Given the description of an element on the screen output the (x, y) to click on. 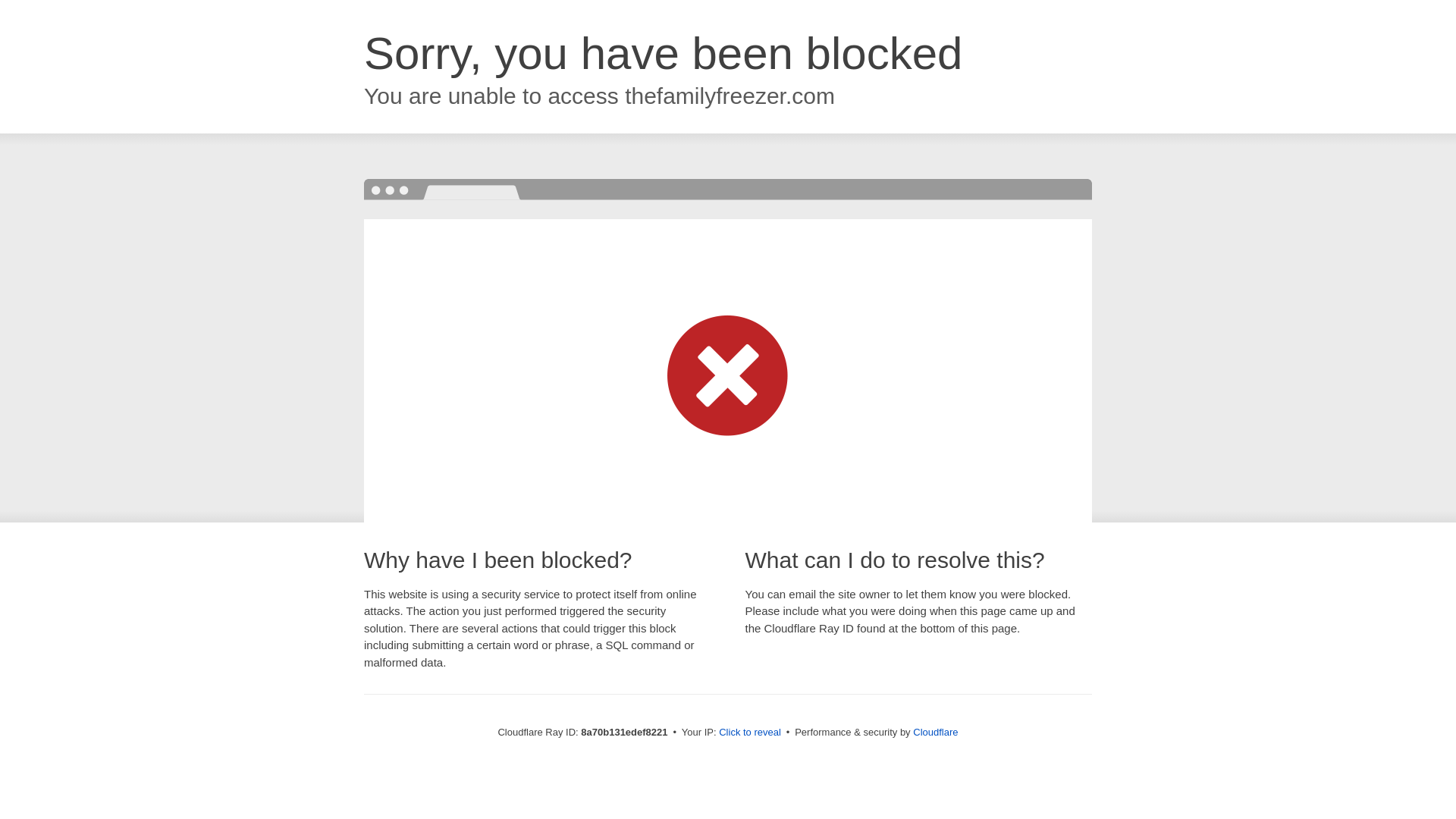
Cloudflare (935, 731)
Click to reveal (749, 732)
